Given the description of an element on the screen output the (x, y) to click on. 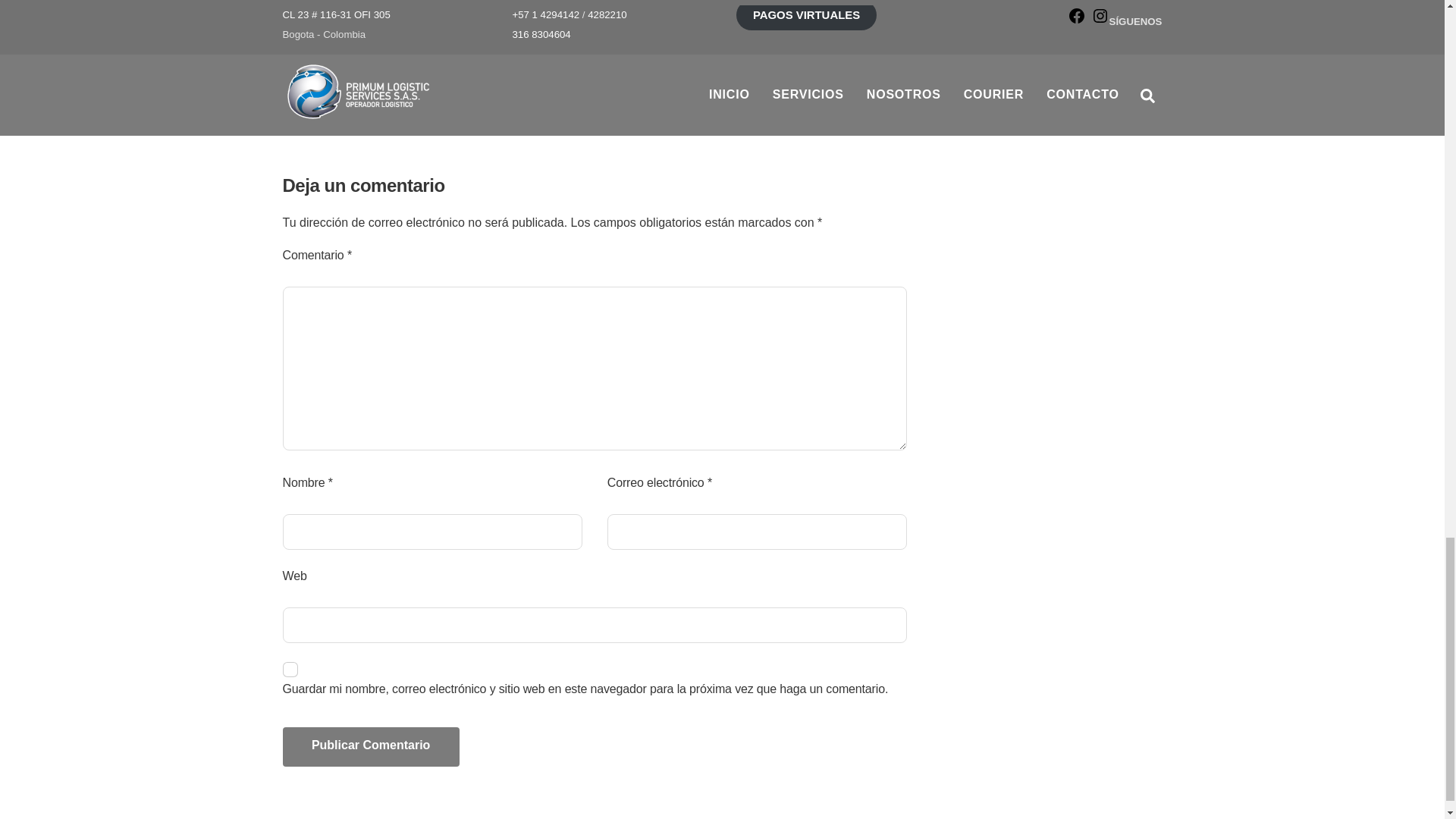
yes (289, 669)
INCONTRI-PERVERSI VISITORS (352, 52)
Publicar comentario (370, 746)
Publicar comentario (370, 746)
